Given the description of an element on the screen output the (x, y) to click on. 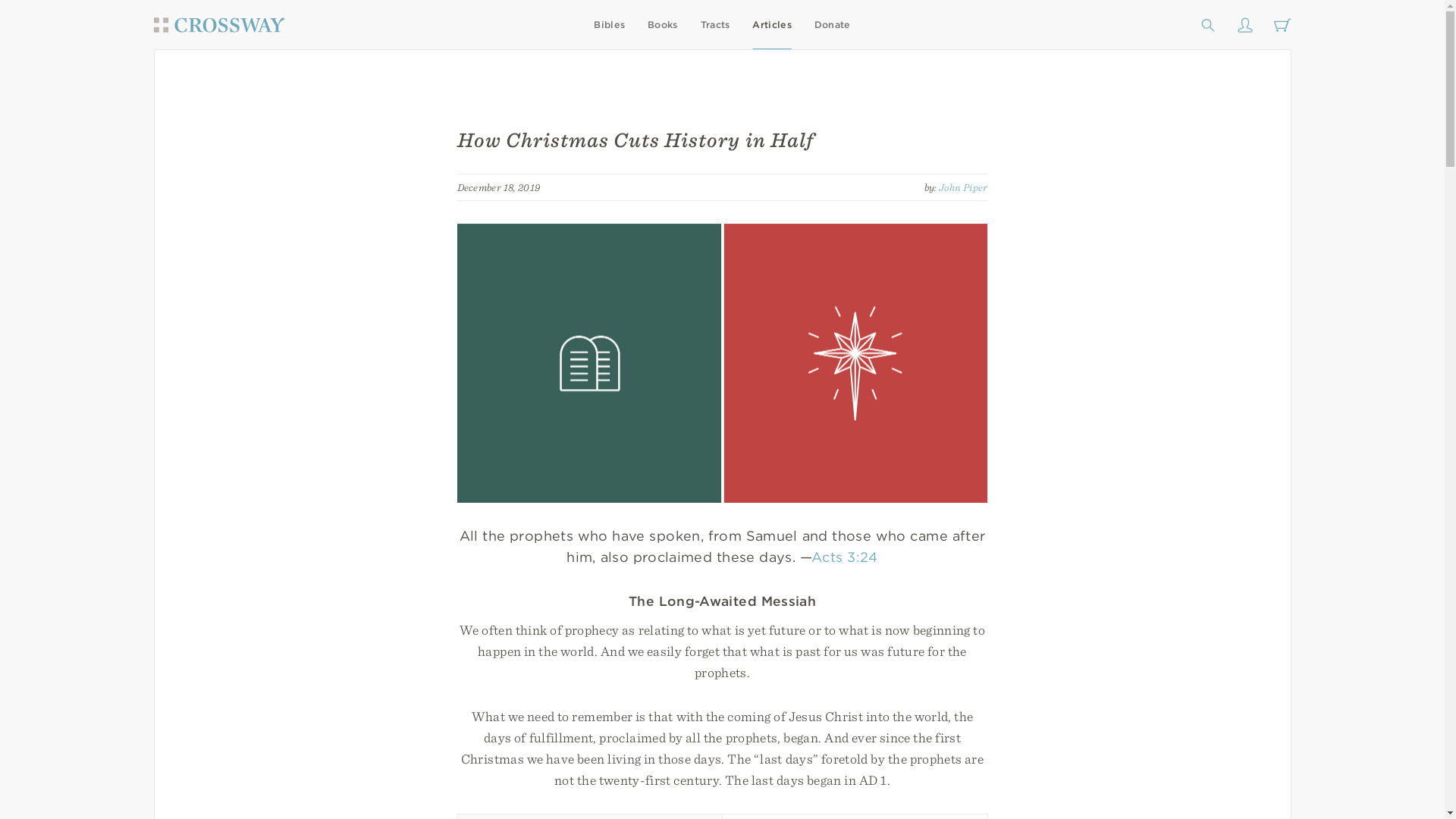
Articles (771, 24)
Donate (831, 24)
Tracts (715, 24)
Acts 3:24 (843, 556)
Bibles (609, 24)
John Piper (963, 186)
Books (662, 24)
